Given the description of an element on the screen output the (x, y) to click on. 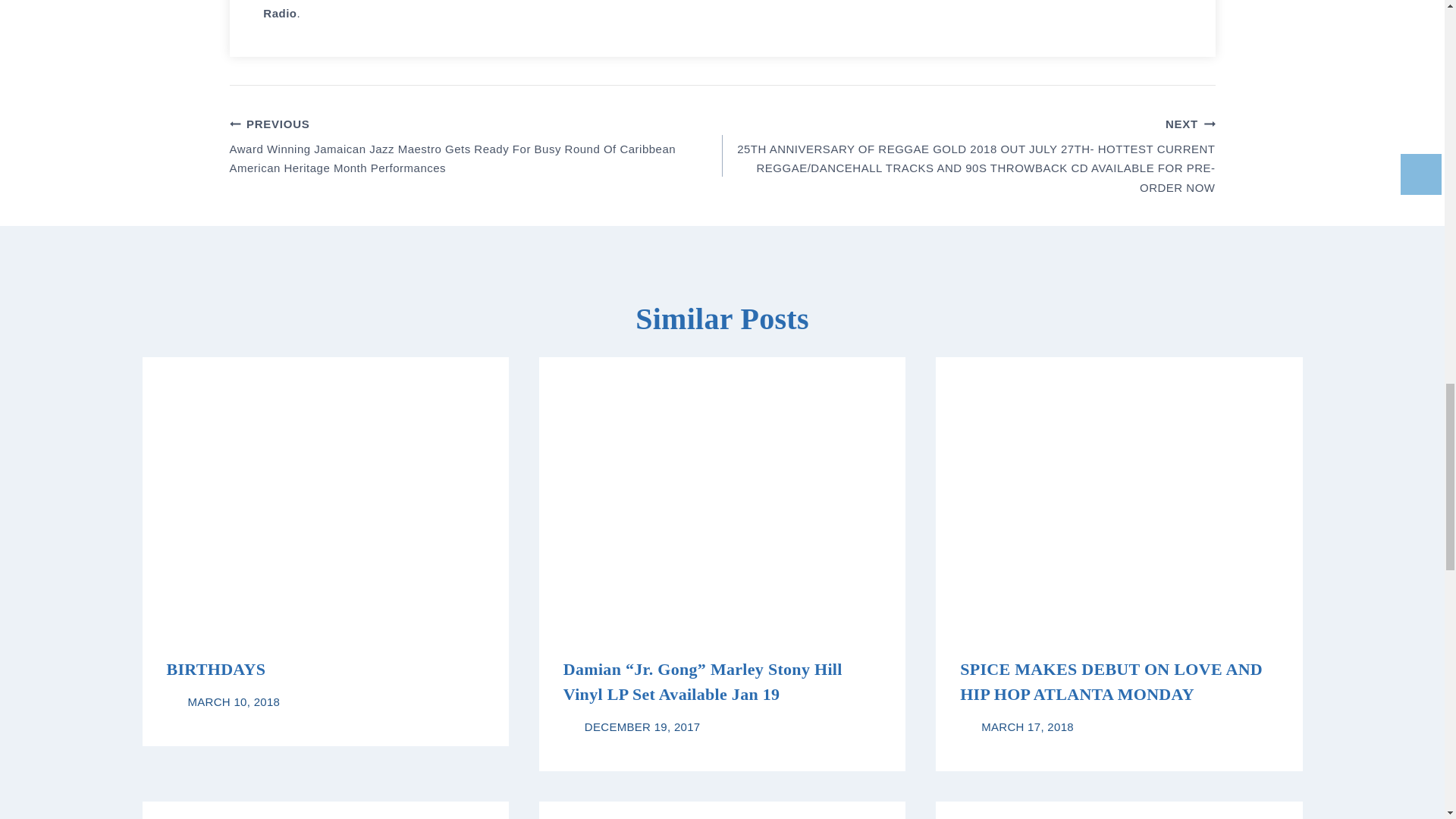
BIRTHDAYS (216, 669)
SPICE MAKES DEBUT ON LOVE AND HIP HOP ATLANTA MONDAY (1110, 681)
